Given the description of an element on the screen output the (x, y) to click on. 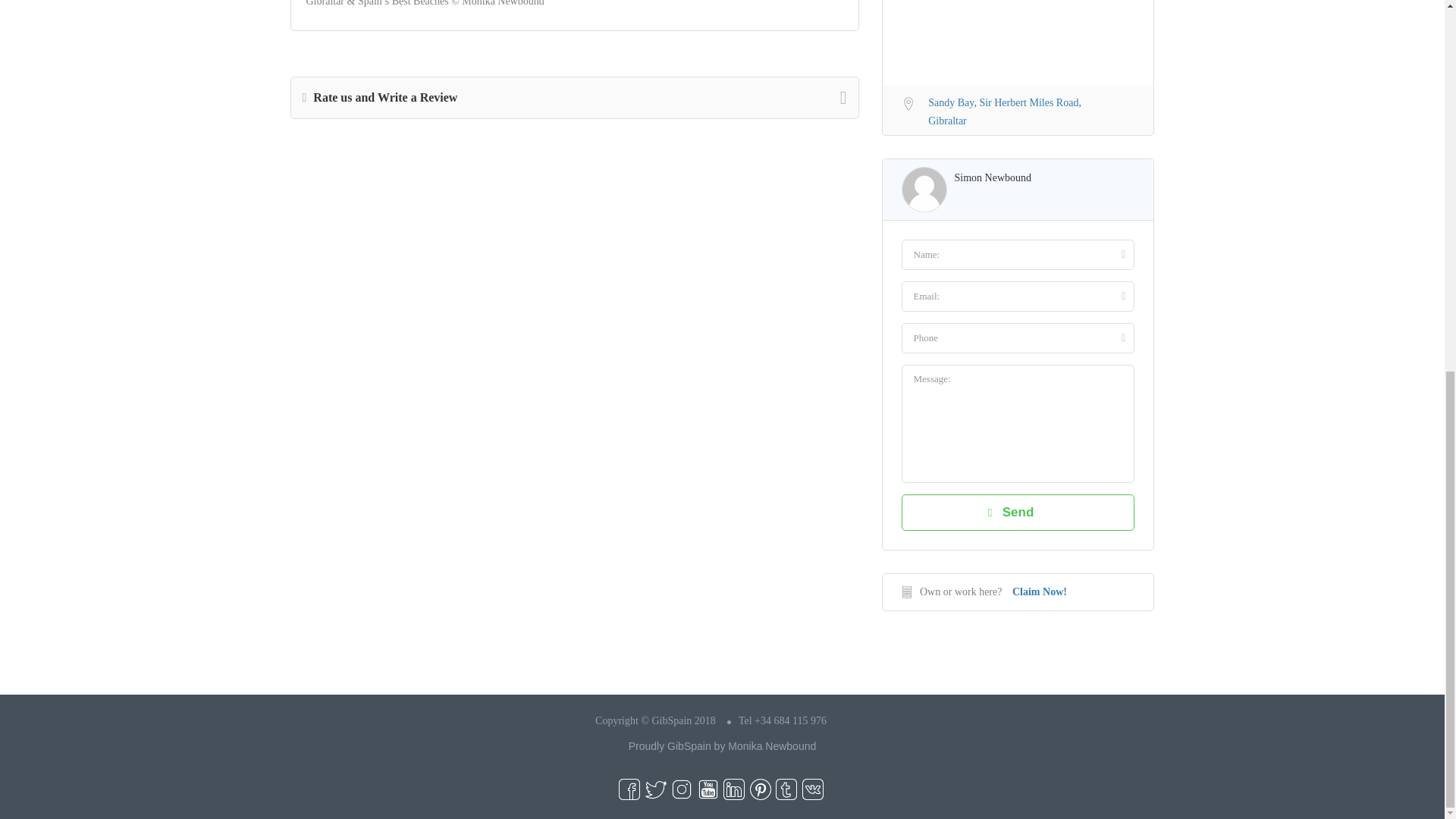
Simon Newbound (991, 177)
Send (1017, 512)
Sandy Bay, Sir Herbert Miles Road, Gibraltar (1018, 109)
Send (1017, 512)
Claim Now! (1039, 591)
